Given the description of an element on the screen output the (x, y) to click on. 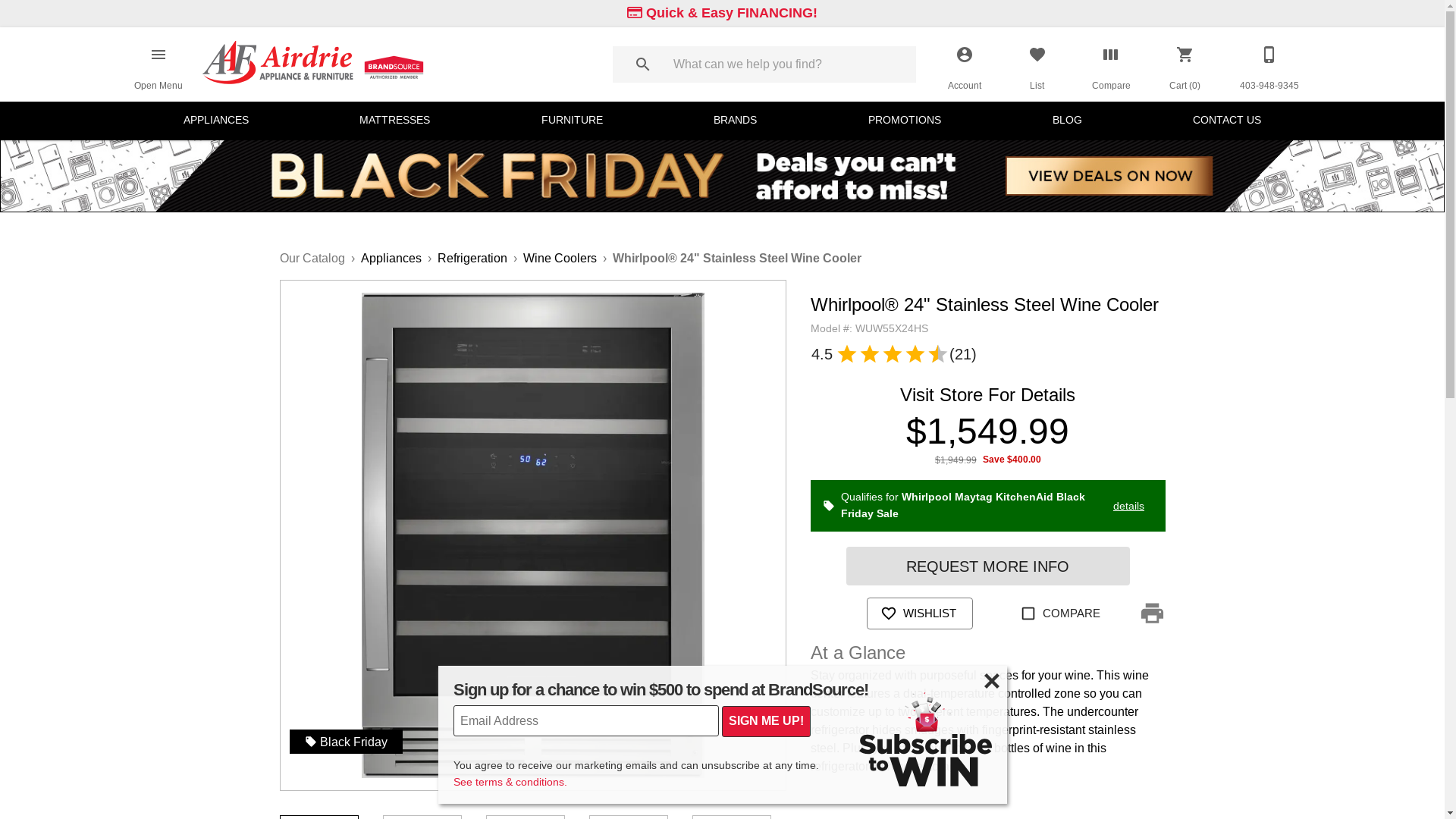
4.5
(21) Element type: text (893, 354)
FURNITURE Element type: text (572, 120)
List Element type: text (1037, 63)
See terms & conditions. Element type: text (722, 781)
BLOG Element type: text (1067, 120)
BRANDS Element type: text (734, 120)
Refrigeration Element type: text (471, 257)
Compare Element type: text (1111, 63)
APPLIANCES Element type: text (215, 120)
REQUEST MORE INFO Element type: text (987, 565)
WISHLIST Element type: text (919, 613)
CONTACT US Element type: text (1226, 120)
COMPARE Element type: text (1061, 613)
Appliances Element type: text (390, 257)
Sign me up! Element type: text (765, 721)
details Element type: text (1128, 505)
Quick & Easy FINANCING! Element type: text (722, 12)
MATTRESSES Element type: text (394, 120)
403-948-9345 Element type: text (1268, 63)
Cart (0) Element type: text (1184, 63)
Wine Coolers Element type: text (559, 257)
PROMOTIONS Element type: text (904, 120)
